Given the description of an element on the screen output the (x, y) to click on. 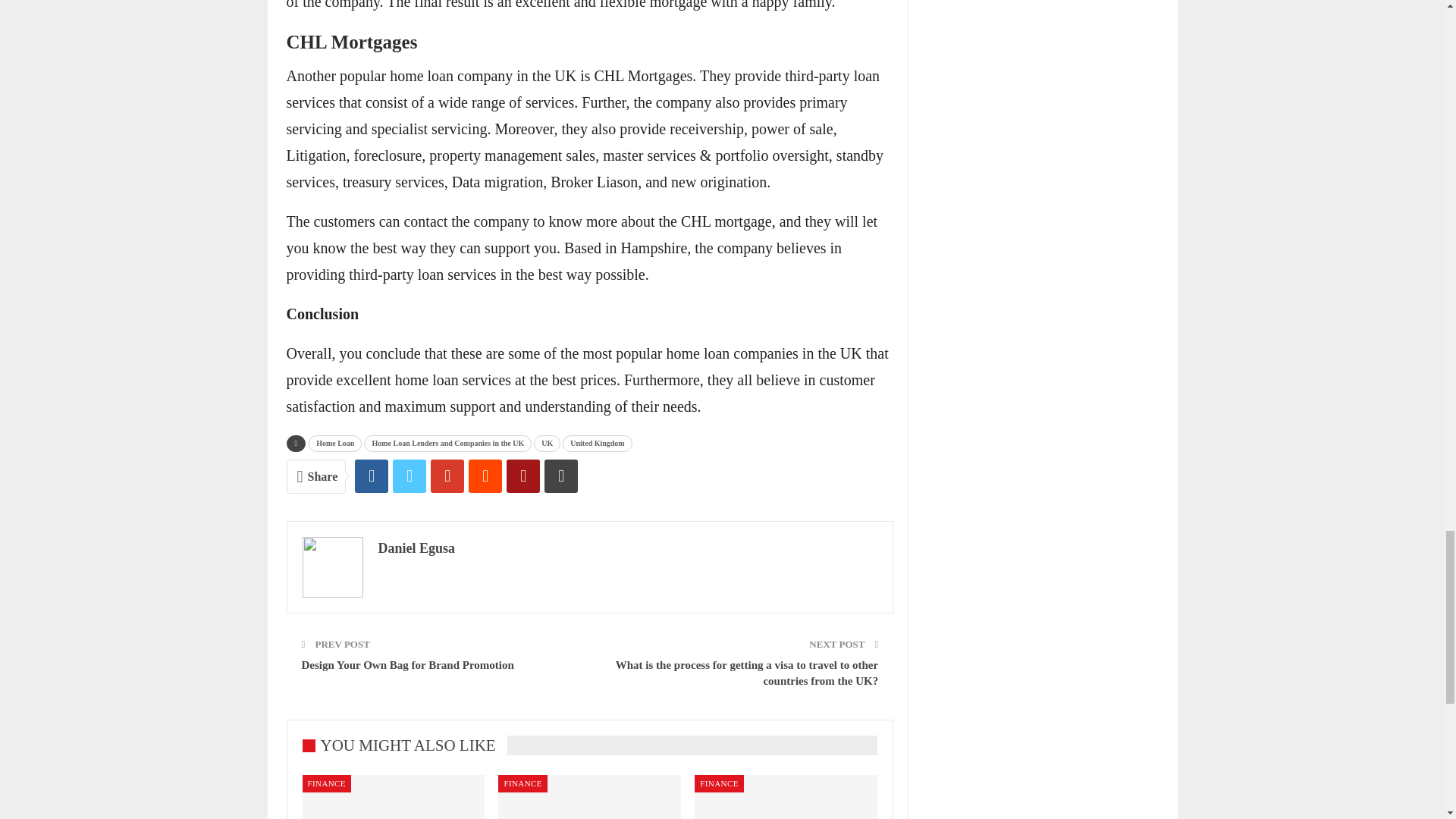
Comprehensive Guide Of Bad Credit Loan Terms (785, 796)
How To Diversify Your Portfolio To Mitigate Risk (392, 796)
